Given the description of an element on the screen output the (x, y) to click on. 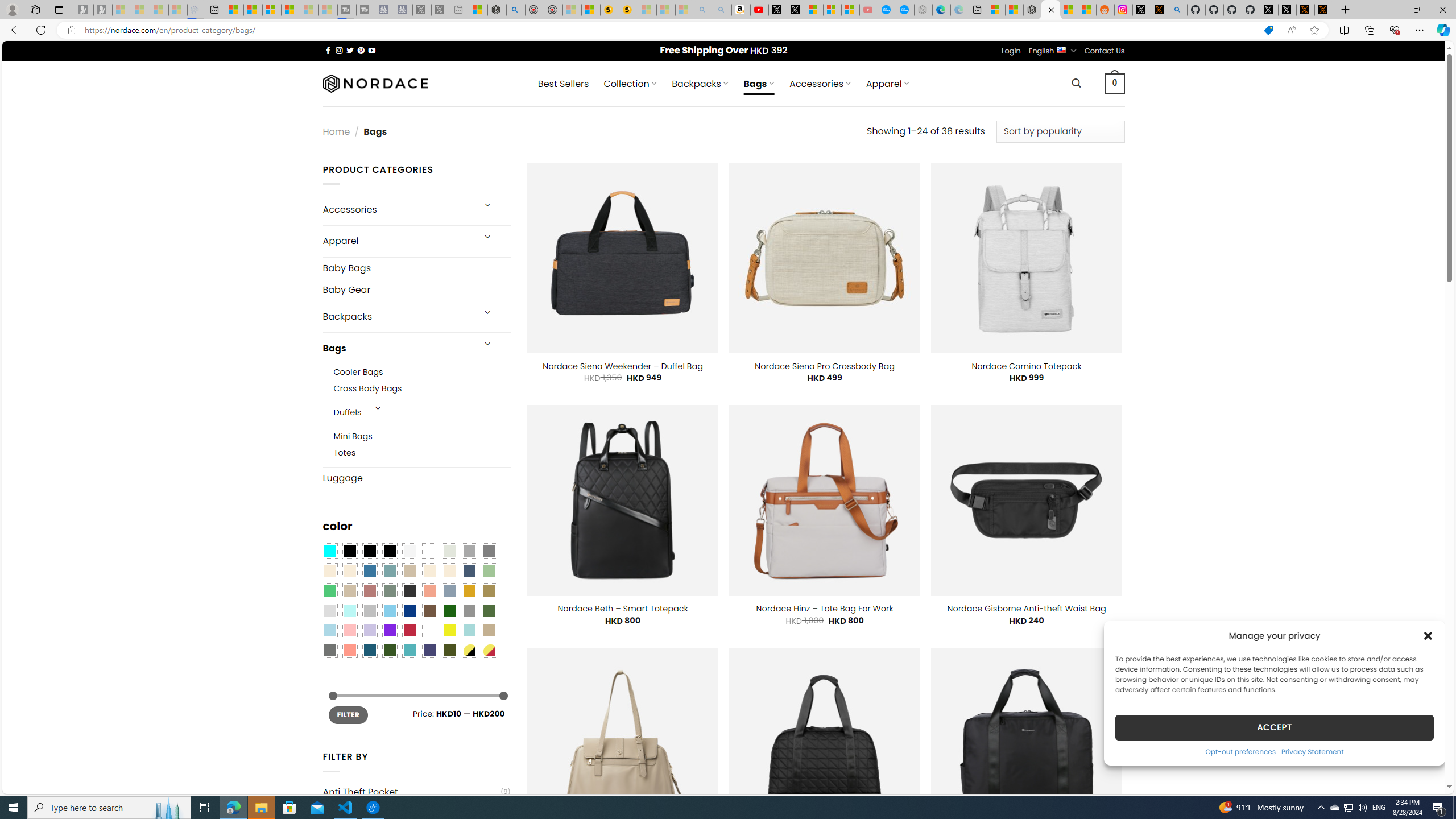
Shop order (1060, 131)
This site has coupons! Shopping in Microsoft Edge (1268, 29)
Aqua (468, 630)
Brown (429, 610)
Yellow-Red (488, 649)
Accessories (397, 209)
Streaming Coverage | T3 - Sleeping (347, 9)
Totes (344, 452)
Nordace Siena Pro Crossbody Bag (823, 365)
